Given the description of an element on the screen output the (x, y) to click on. 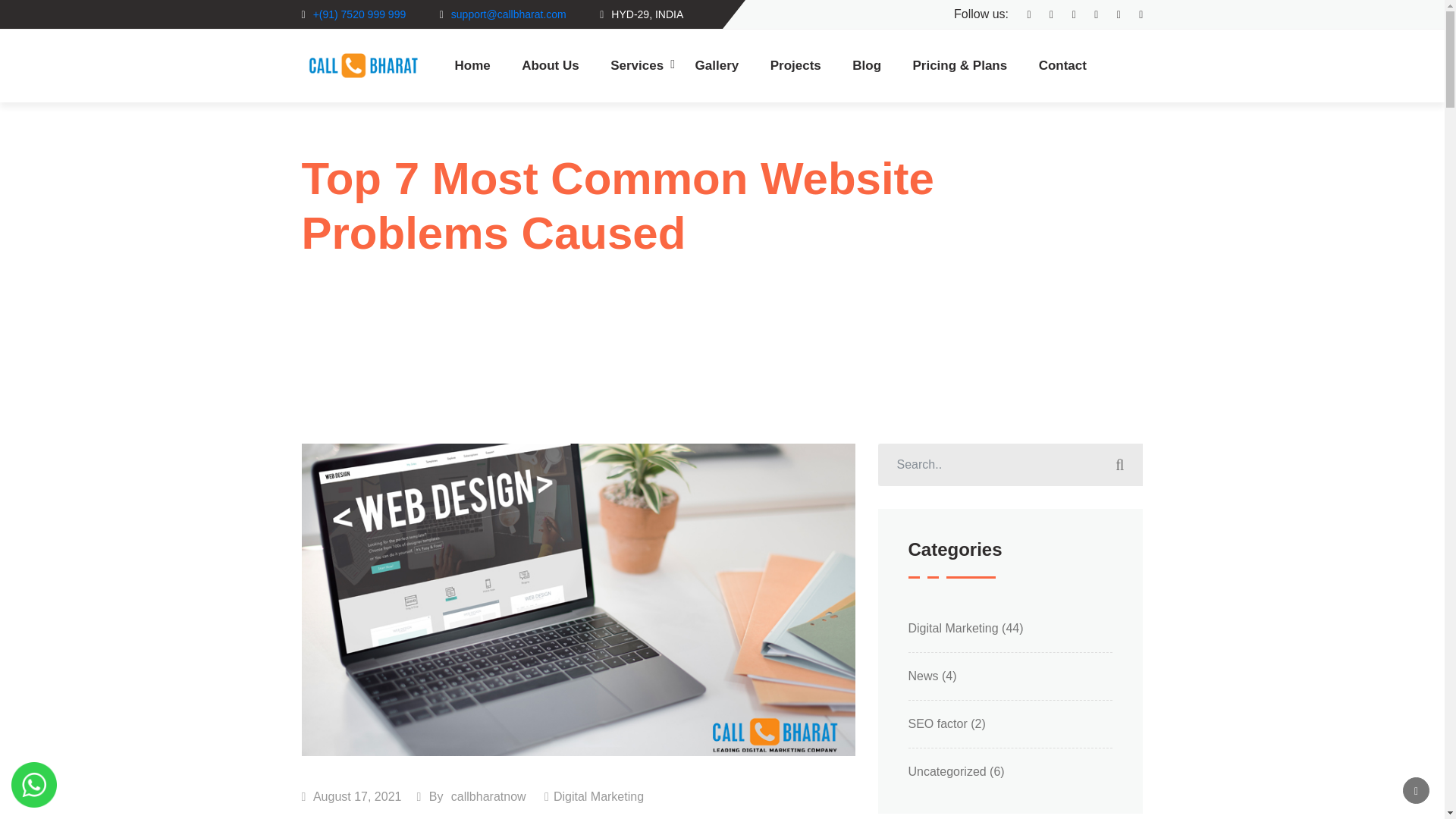
Back to Top (1416, 790)
Youtube (1111, 14)
instagram (1087, 14)
Services (636, 65)
Twitter (1042, 14)
Whats App (1133, 14)
About Us (550, 65)
linkedin (1066, 14)
Facebook (1020, 14)
